Given the description of an element on the screen output the (x, y) to click on. 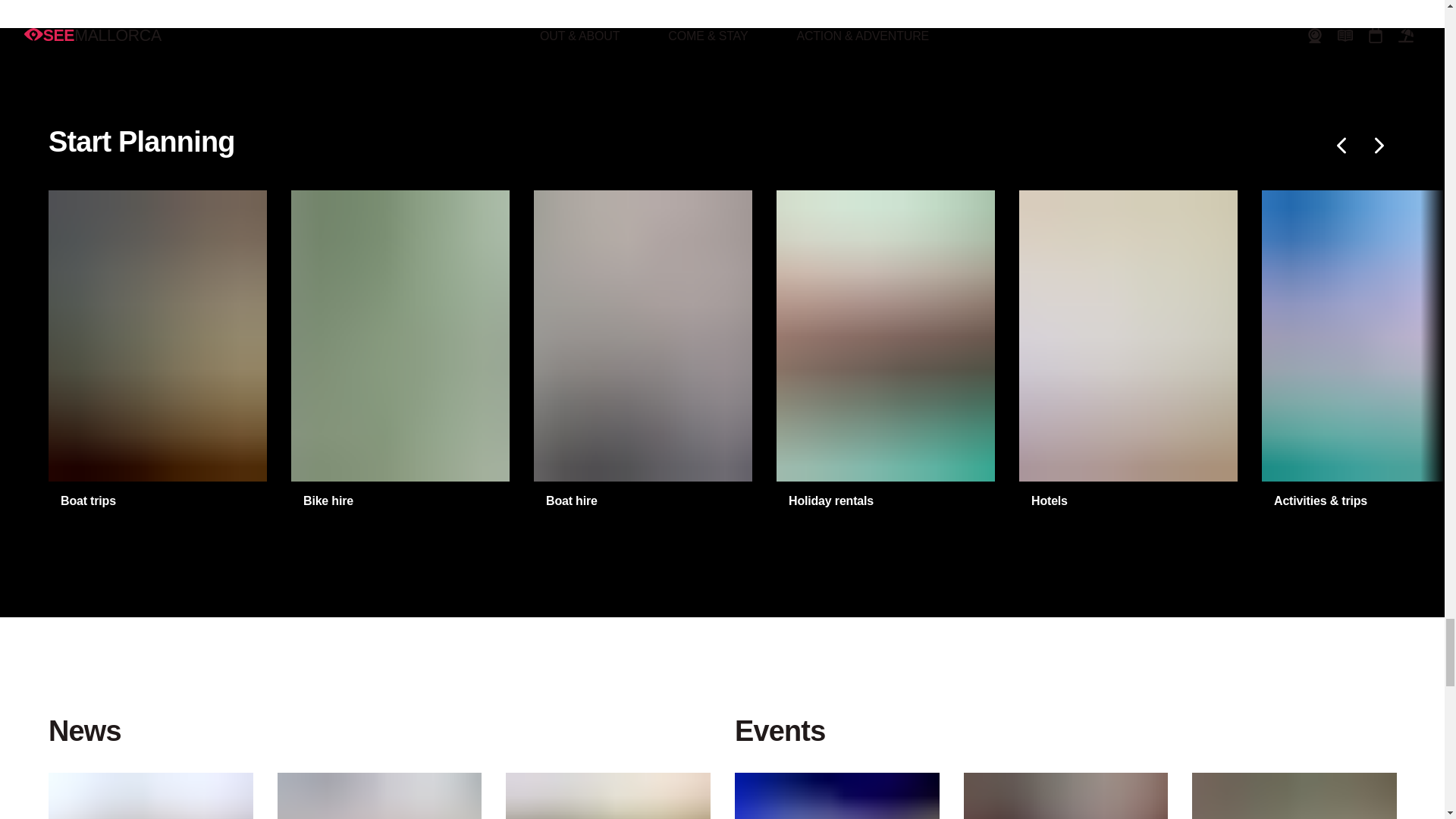
scroll right (1377, 145)
scroll left (1341, 145)
